Given the description of an element on the screen output the (x, y) to click on. 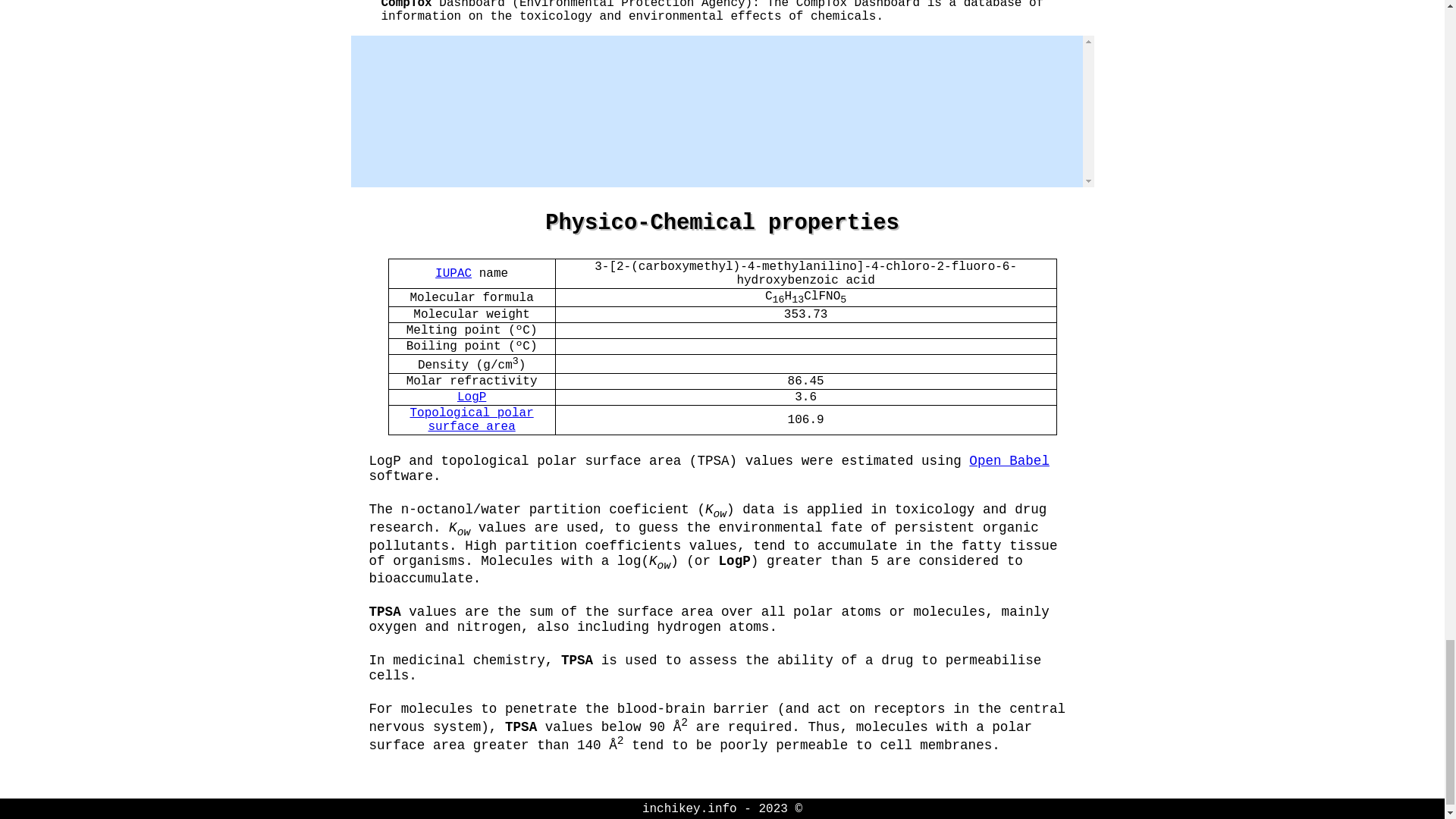
IUPAC (453, 273)
LogP (471, 397)
Open Babel (1009, 460)
Topological polar surface area (470, 420)
